Given the description of an element on the screen output the (x, y) to click on. 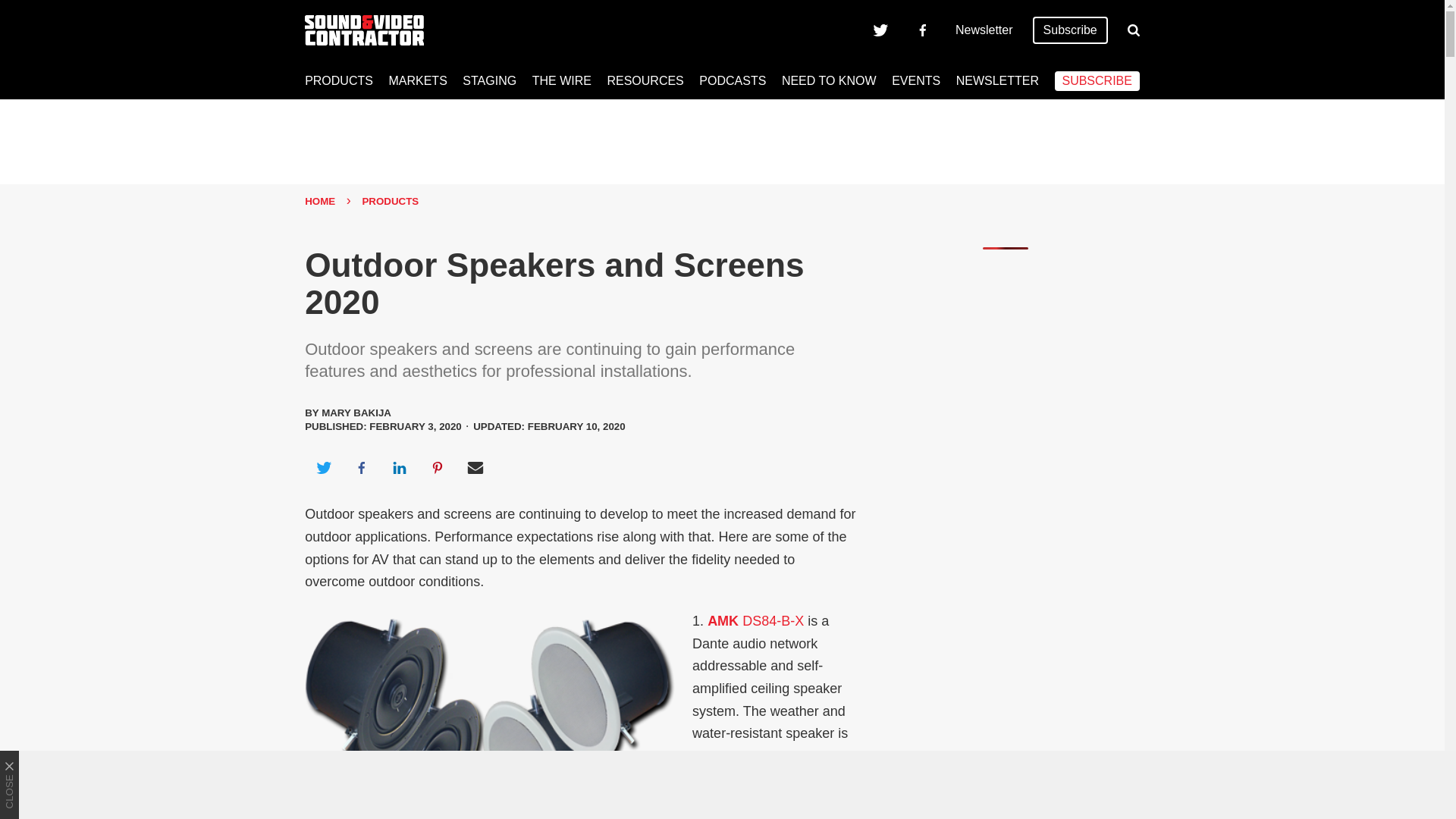
Share on LinkedIn (399, 467)
Share on Pinterest (438, 467)
Share via Email (476, 467)
Share on Facebook (361, 467)
Share on Twitter (323, 467)
